Given the description of an element on the screen output the (x, y) to click on. 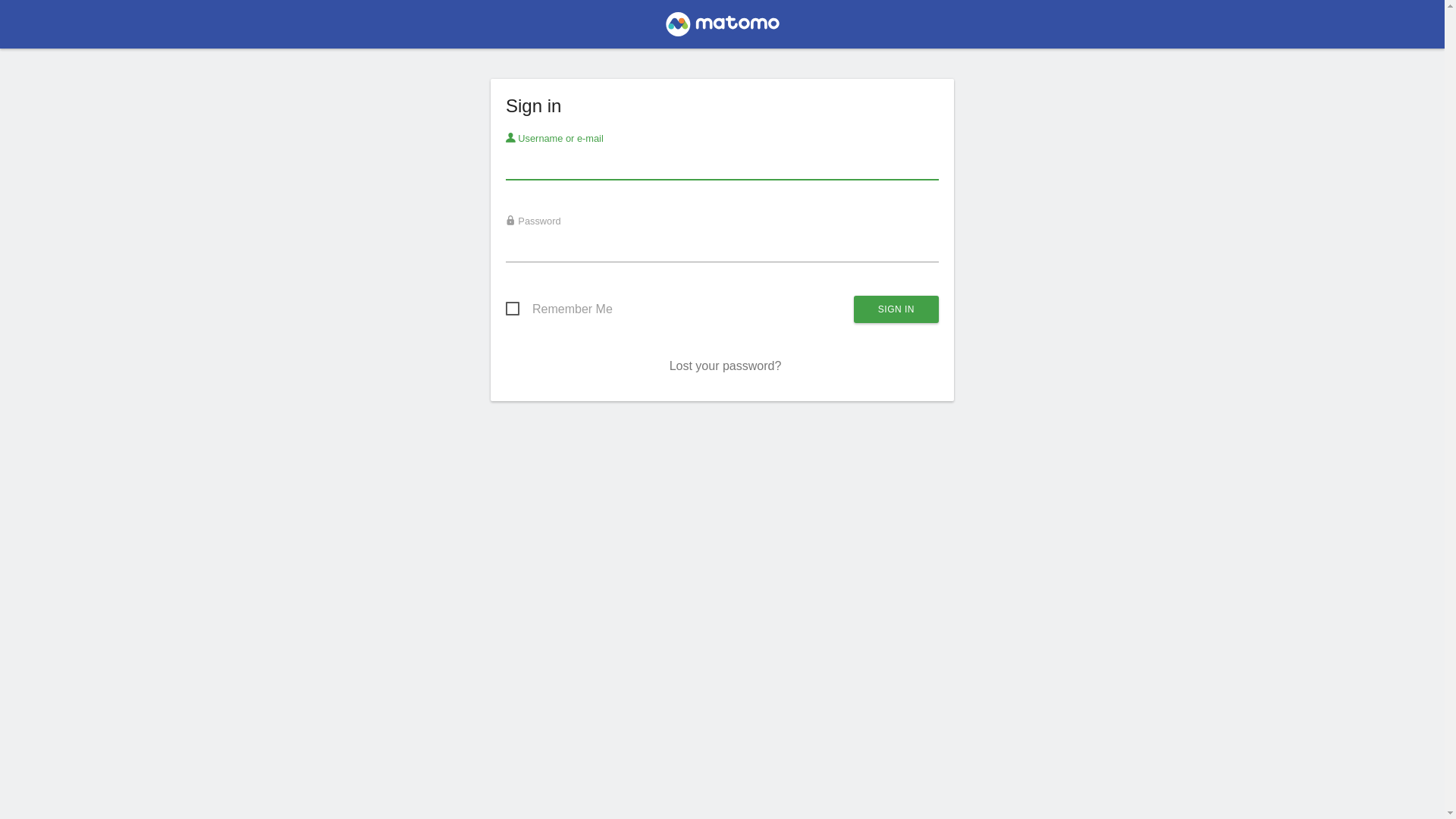
Lost your password? Element type: text (725, 365)
Matomo # free/libre analytics platform Element type: hover (722, 27)
Sign in Element type: text (895, 309)
